Given the description of an element on the screen output the (x, y) to click on. 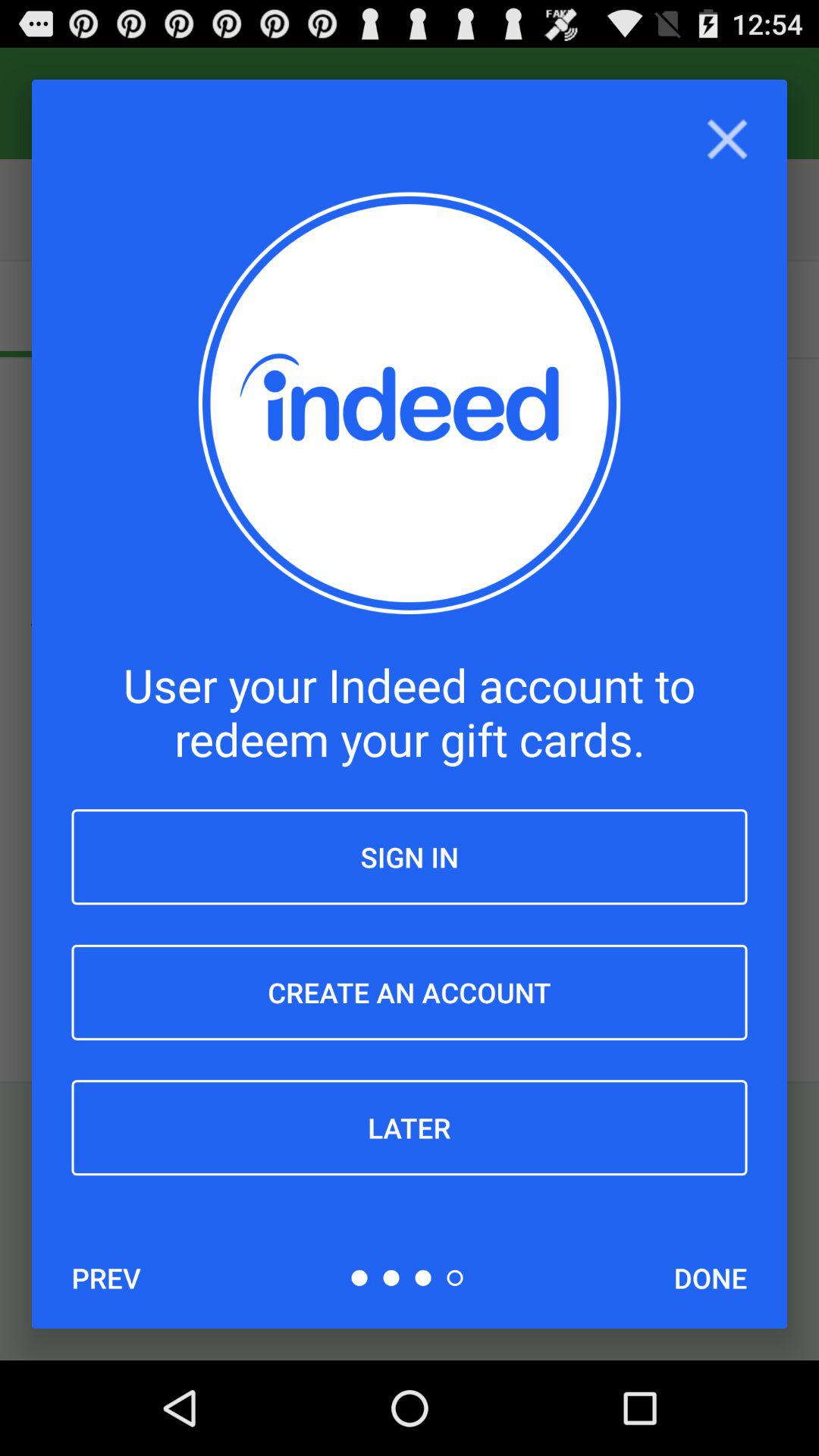
launch done icon (710, 1277)
